Given the description of an element on the screen output the (x, y) to click on. 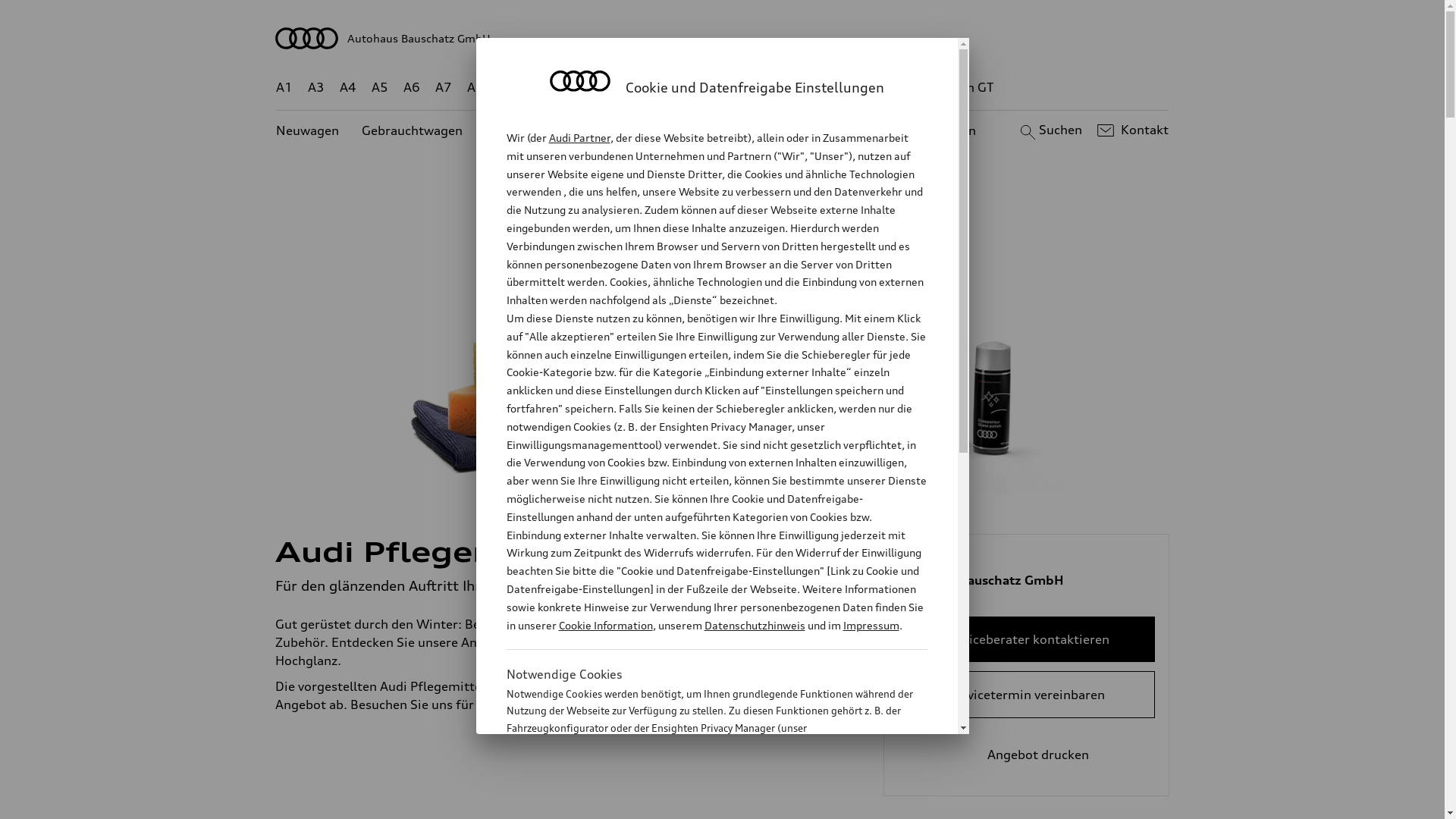
Autohaus Bauschatz GmbH Element type: text (722, 38)
A8 Element type: text (475, 87)
Datenschutzhinweis Element type: text (753, 624)
g-tron Element type: text (903, 87)
Cookie Information Element type: text (700, 802)
Gebrauchtwagen Element type: text (411, 130)
Q8 Element type: text (710, 87)
Q5 Element type: text (645, 87)
Q3 Element type: text (540, 87)
Suchen Element type: text (1049, 130)
Angebote Element type: text (636, 130)
Q4 e-tron Element type: text (592, 87)
A6 Element type: text (411, 87)
Kundenservice Element type: text (730, 130)
Angebot drucken Element type: text (1026, 754)
A7 Element type: text (443, 87)
TT Element type: text (814, 87)
Q7 Element type: text (678, 87)
Servicetermin vereinbaren Element type: text (1025, 694)
A3 Element type: text (315, 87)
Q2 Element type: text (507, 87)
RS Element type: text (861, 87)
A1 Element type: text (284, 87)
A5 Element type: text (379, 87)
Audi Partner Element type: text (579, 137)
Kontakt Element type: text (1130, 130)
Neuwagen Element type: text (307, 130)
Cookie Information Element type: text (605, 624)
e-tron GT Element type: text (965, 87)
Serviceberater kontaktieren Element type: text (1025, 639)
Q8 e-tron Element type: text (763, 87)
Impressum Element type: text (871, 624)
A4 Element type: text (347, 87)
